Given the description of an element on the screen output the (x, y) to click on. 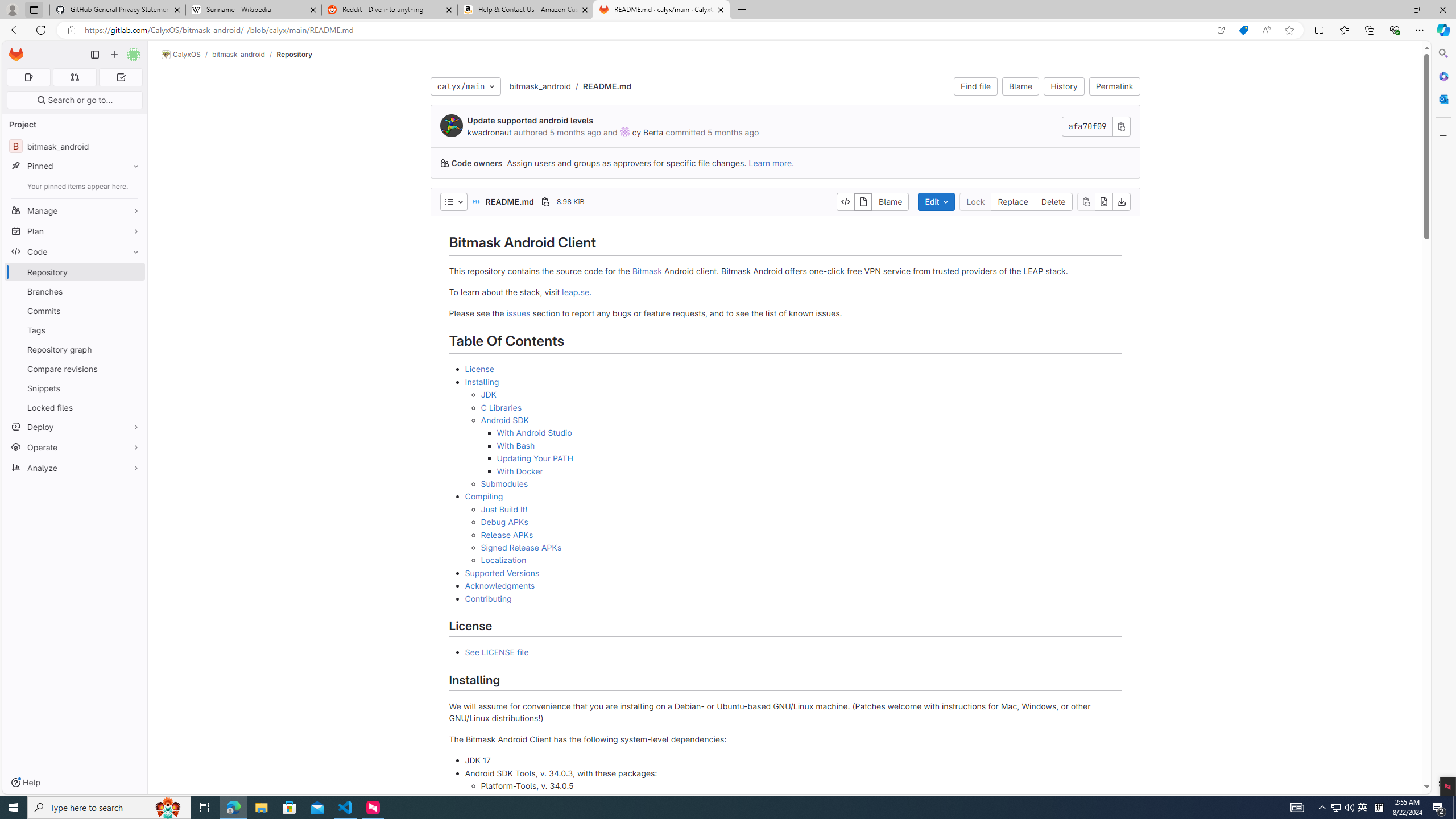
/README.md (600, 85)
leap.se (575, 291)
cy Berta's avatar (624, 131)
README.md (606, 85)
Learn more. (770, 162)
Pin Repository (132, 272)
Compare revisions (74, 368)
bitmask_android (539, 85)
C Libraries (800, 407)
